Given the description of an element on the screen output the (x, y) to click on. 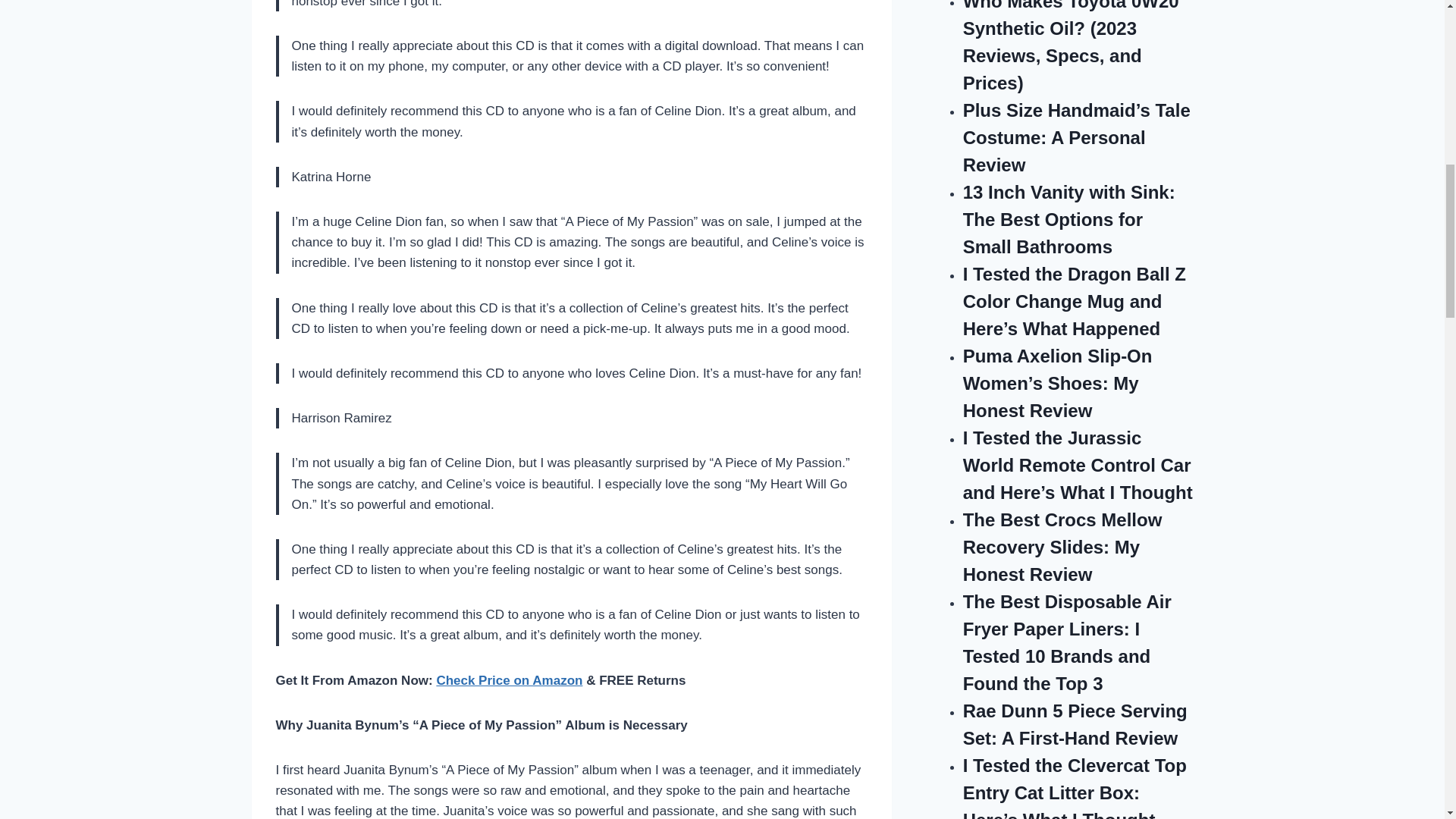
Check Price on Amazon (508, 680)
The Best Crocs Mellow Recovery Slides: My Honest Review (1061, 546)
Rae Dunn 5 Piece Serving Set: A First-Hand Review (1075, 724)
